Given the description of an element on the screen output the (x, y) to click on. 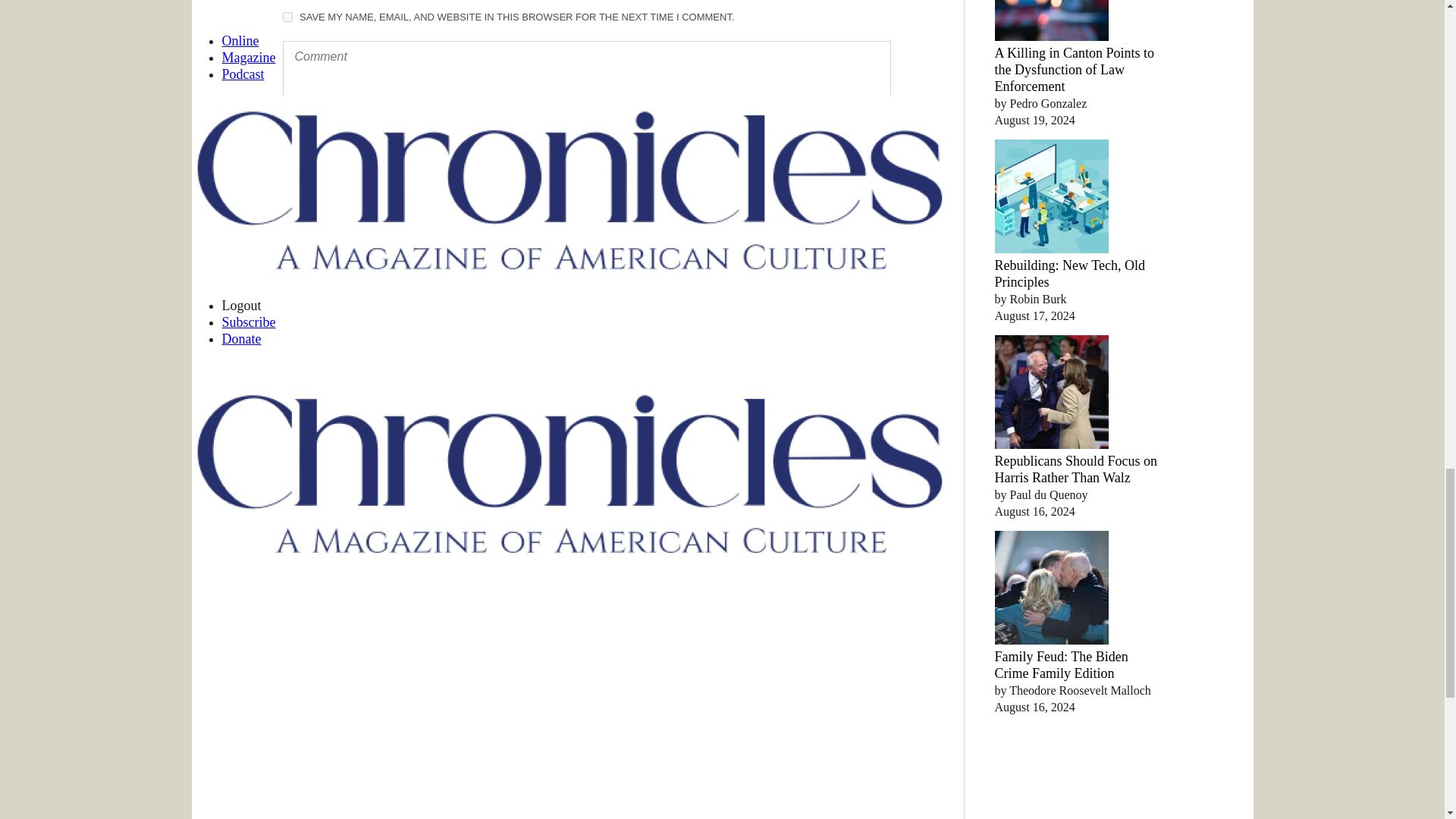
Republicans Should Focus on Harris Rather Than Walz (1075, 469)
Learn how your comment data is processed (616, 242)
Add Comment (350, 198)
Add Comment (350, 198)
Family Feud: The Biden Crime Family Edition (1061, 664)
Rebuilding: New Tech, Old Principles (1069, 273)
yes (287, 17)
